Given the description of an element on the screen output the (x, y) to click on. 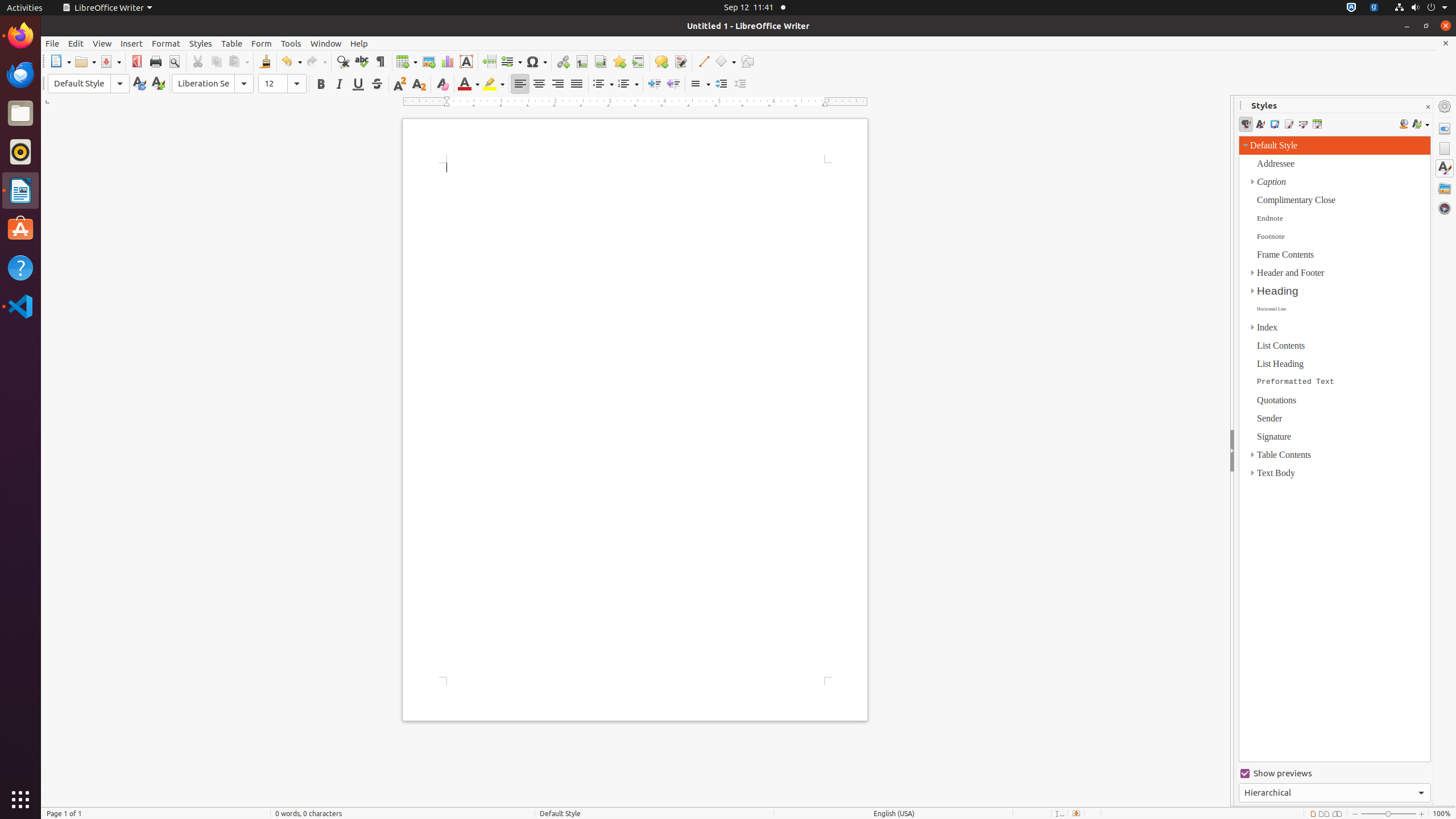
Print Preview Element type: toggle-button (173, 61)
